Given the description of an element on the screen output the (x, y) to click on. 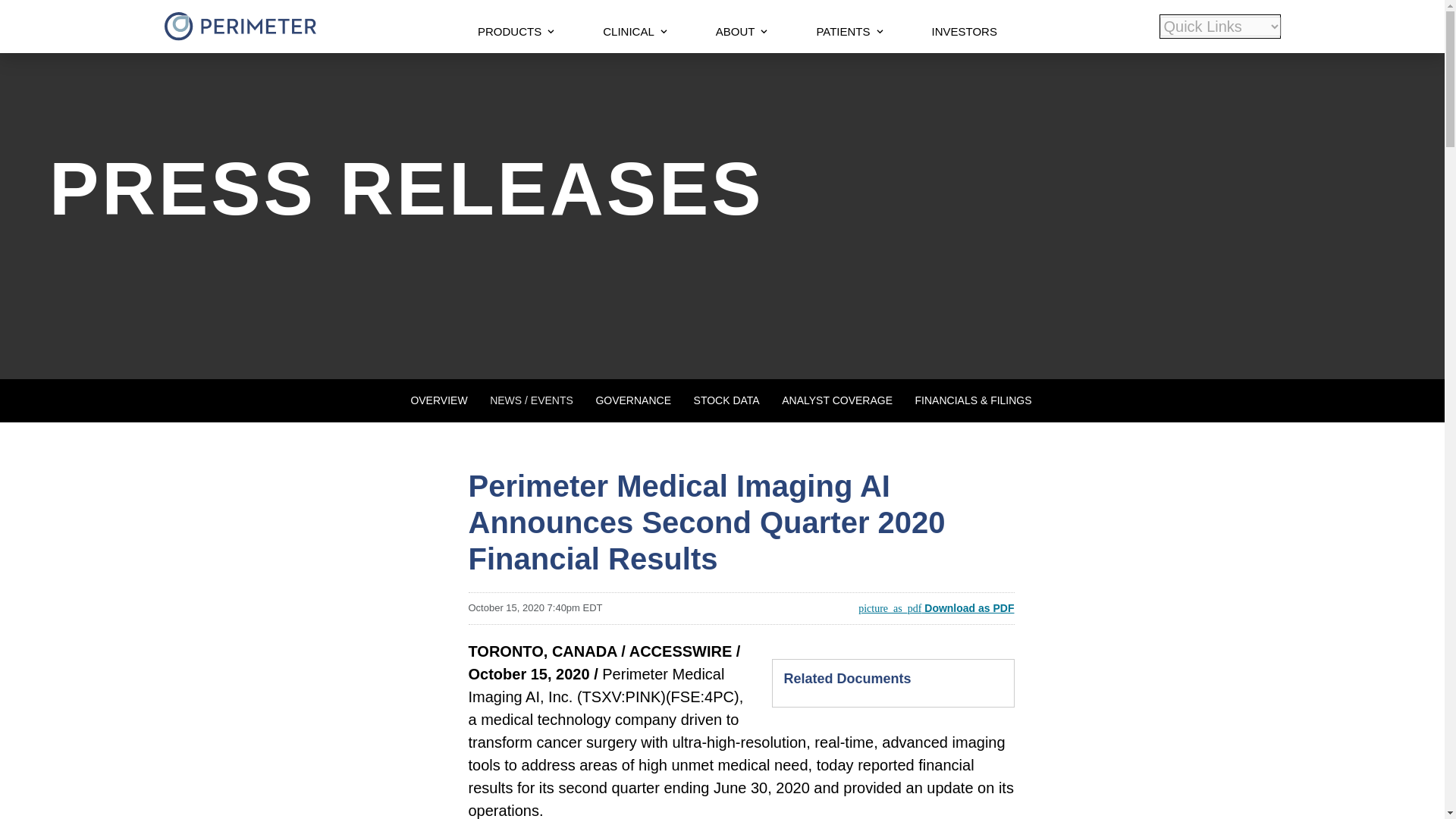
OVERVIEW (438, 400)
CLINICAL (634, 32)
ABOUT (741, 32)
PATIENTS (849, 32)
INVESTORS (964, 32)
